Given the description of an element on the screen output the (x, y) to click on. 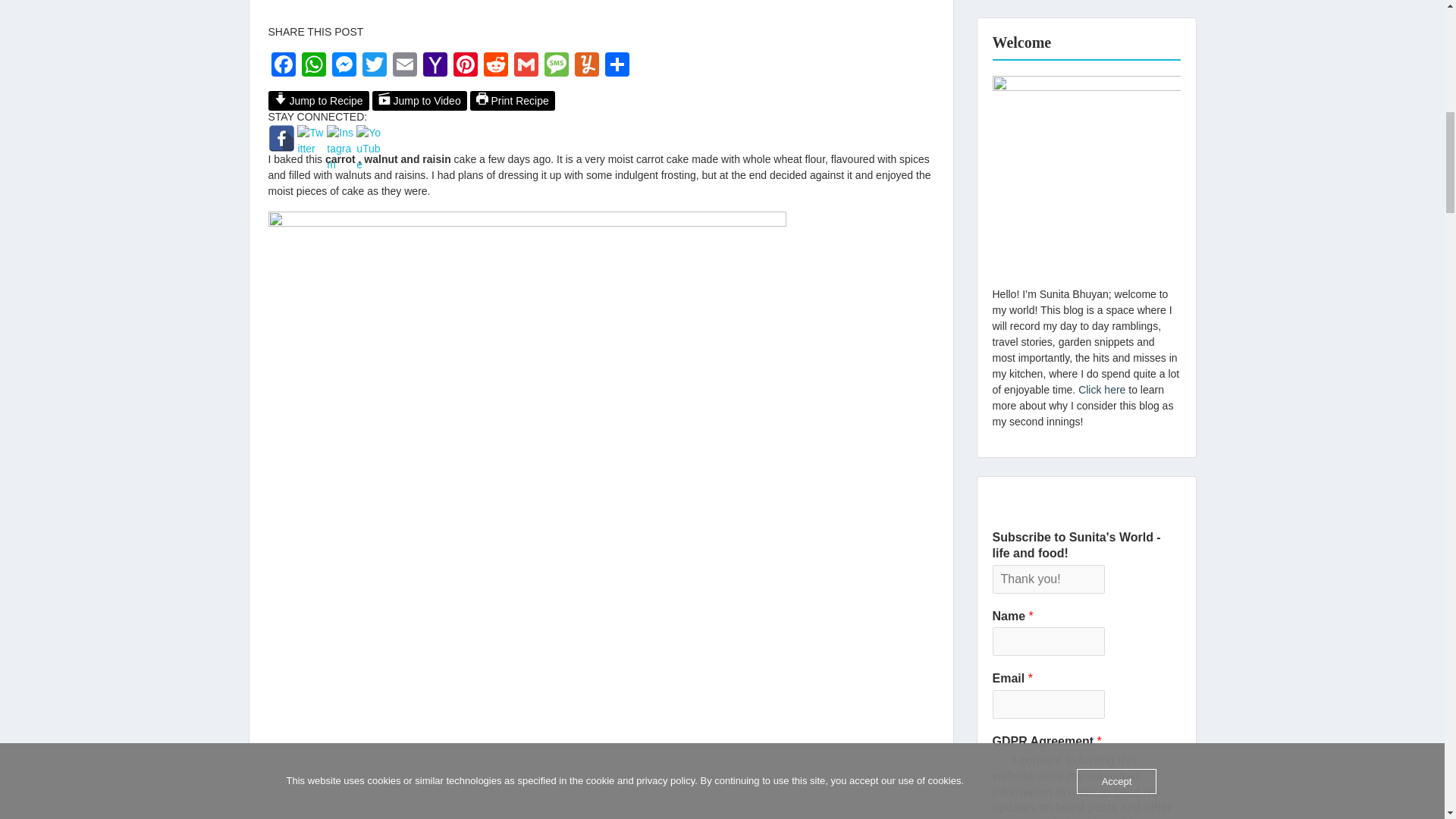
Twitter (374, 66)
Yahoo Mail (434, 66)
Email (405, 66)
Gmail (526, 66)
Reddit (495, 66)
WhatsApp (313, 66)
Pinterest (464, 66)
Facebook (282, 66)
Messenger (344, 66)
